Given the description of an element on the screen output the (x, y) to click on. 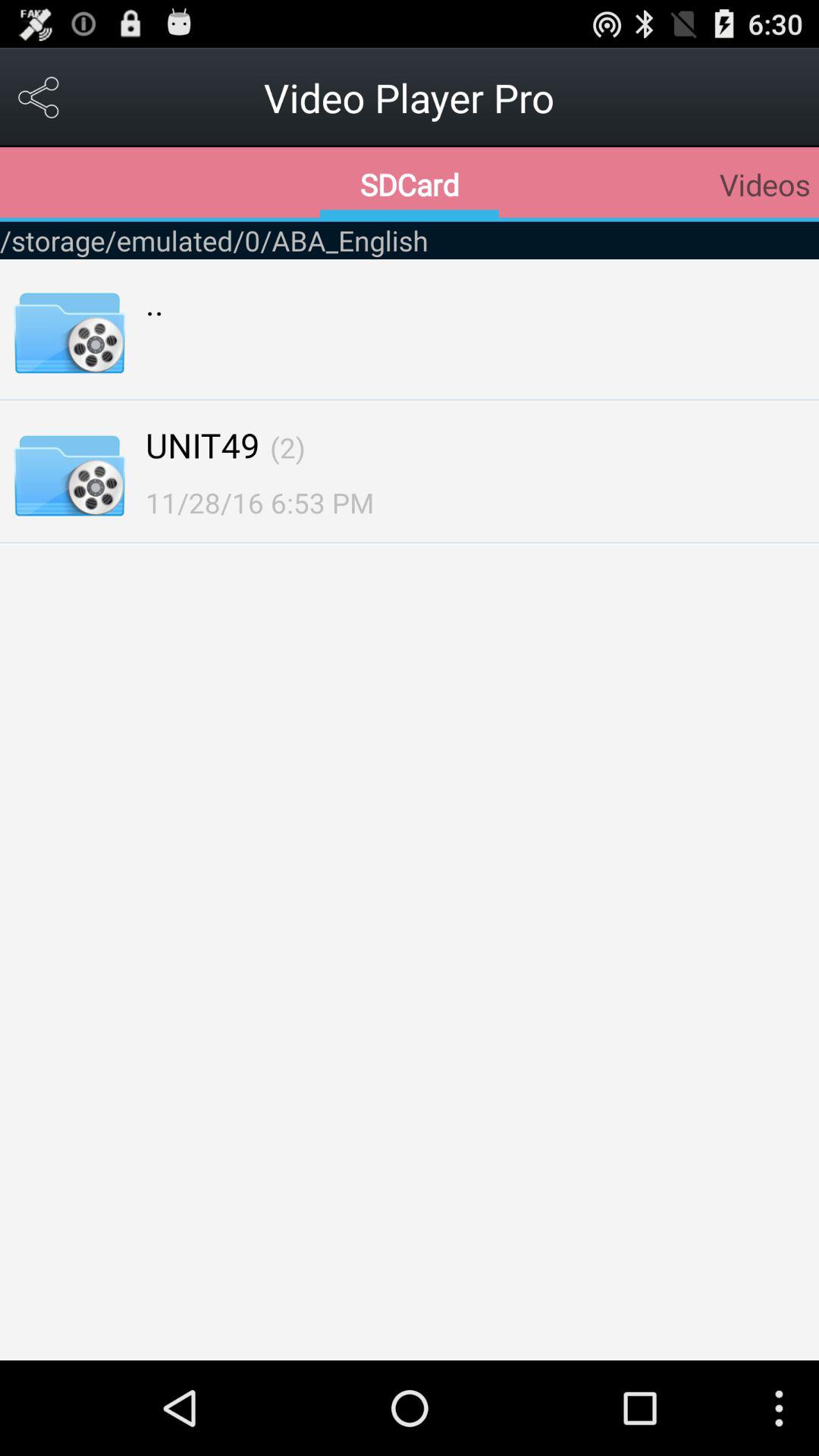
scroll until 11 28 16 (259, 502)
